Given the description of an element on the screen output the (x, y) to click on. 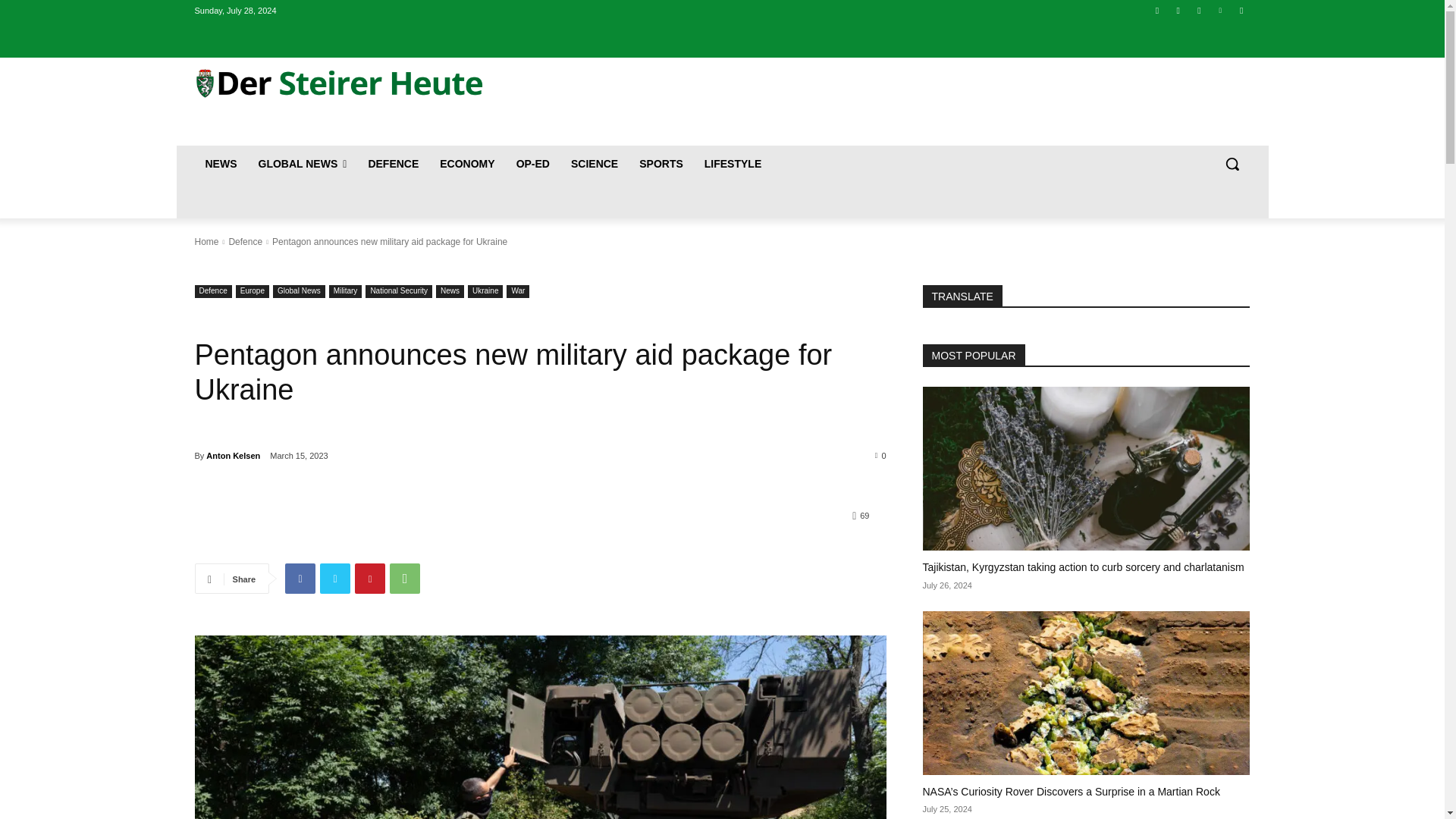
View all posts in Defence (245, 241)
WhatsApp (405, 578)
Pinterest (370, 578)
Twitter (335, 578)
Twitter (1199, 9)
Facebook (300, 578)
Instagram (1177, 9)
Facebook (1157, 9)
Youtube (1241, 9)
Vimeo (1219, 9)
